Given the description of an element on the screen output the (x, y) to click on. 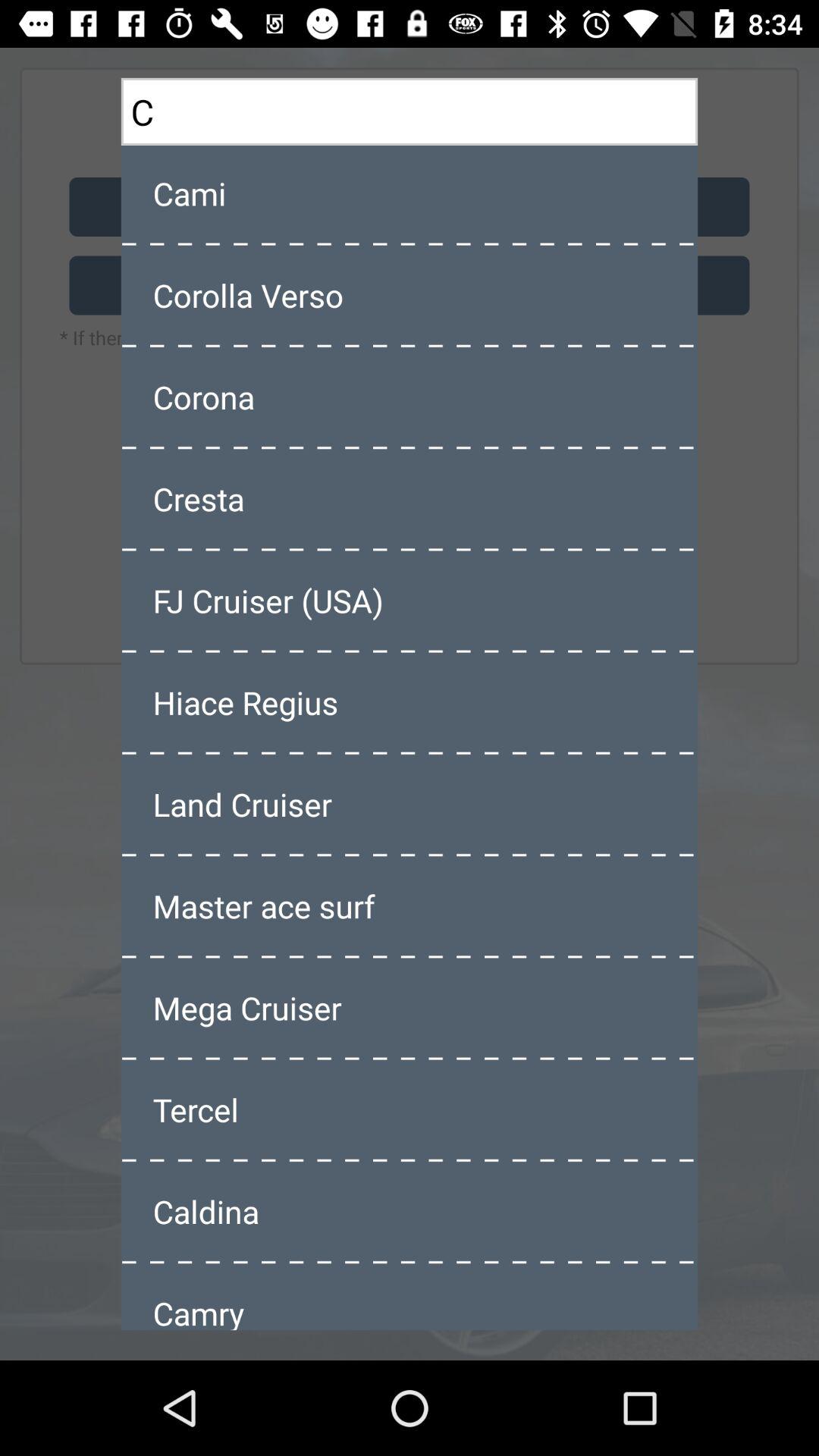
tap the land cruiser item (409, 803)
